Given the description of an element on the screen output the (x, y) to click on. 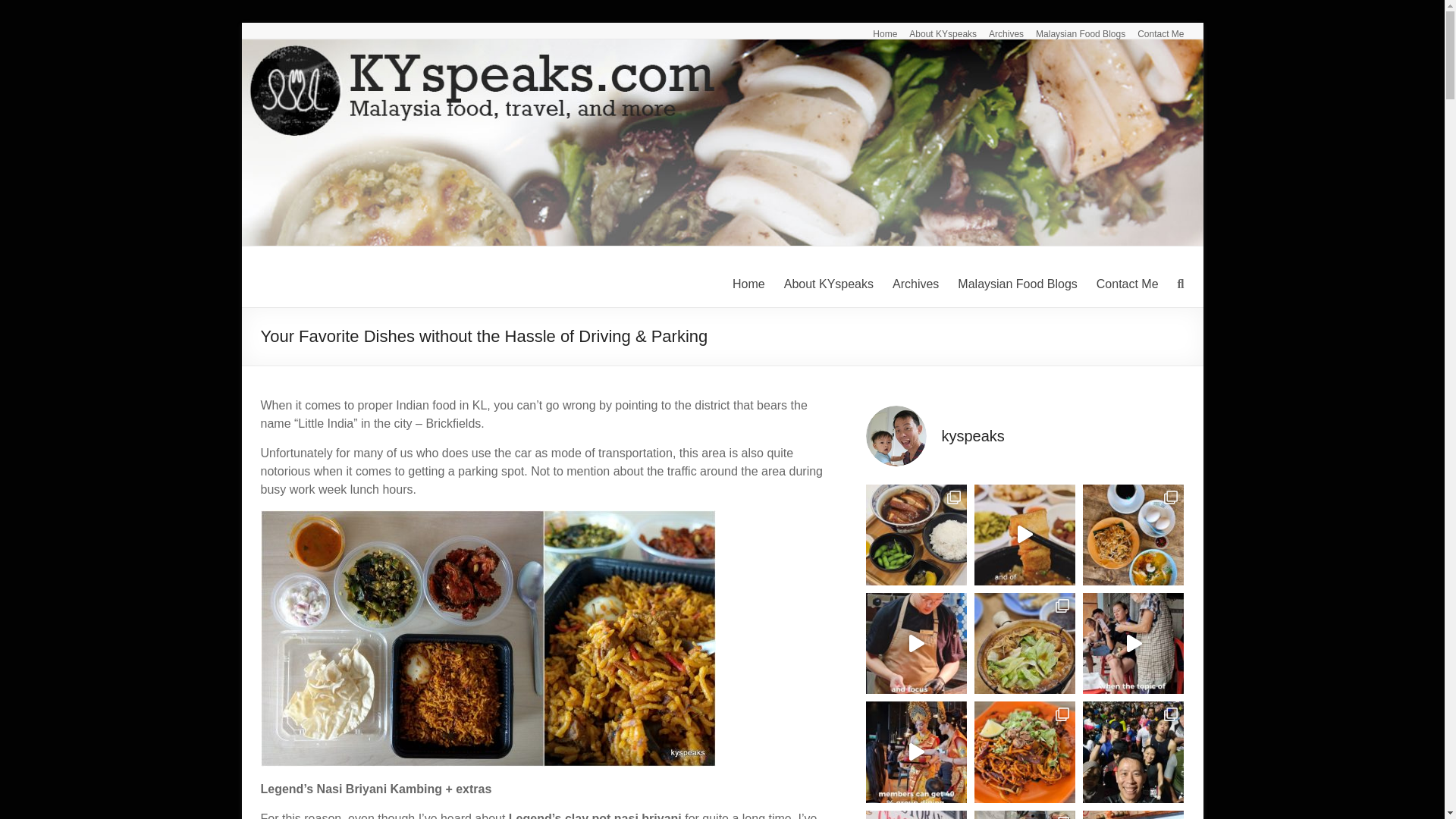
About KYspeaks (828, 283)
KYspeaks (320, 277)
About KYspeaks (936, 30)
Contact Me (1127, 283)
Archives (915, 283)
Home (748, 283)
Malaysian Food Blogs (1017, 283)
Archives (999, 30)
Malaysian Food Blogs (1074, 30)
Home (878, 30)
Contact Me (1154, 30)
KYspeaks (320, 277)
